Given the description of an element on the screen output the (x, y) to click on. 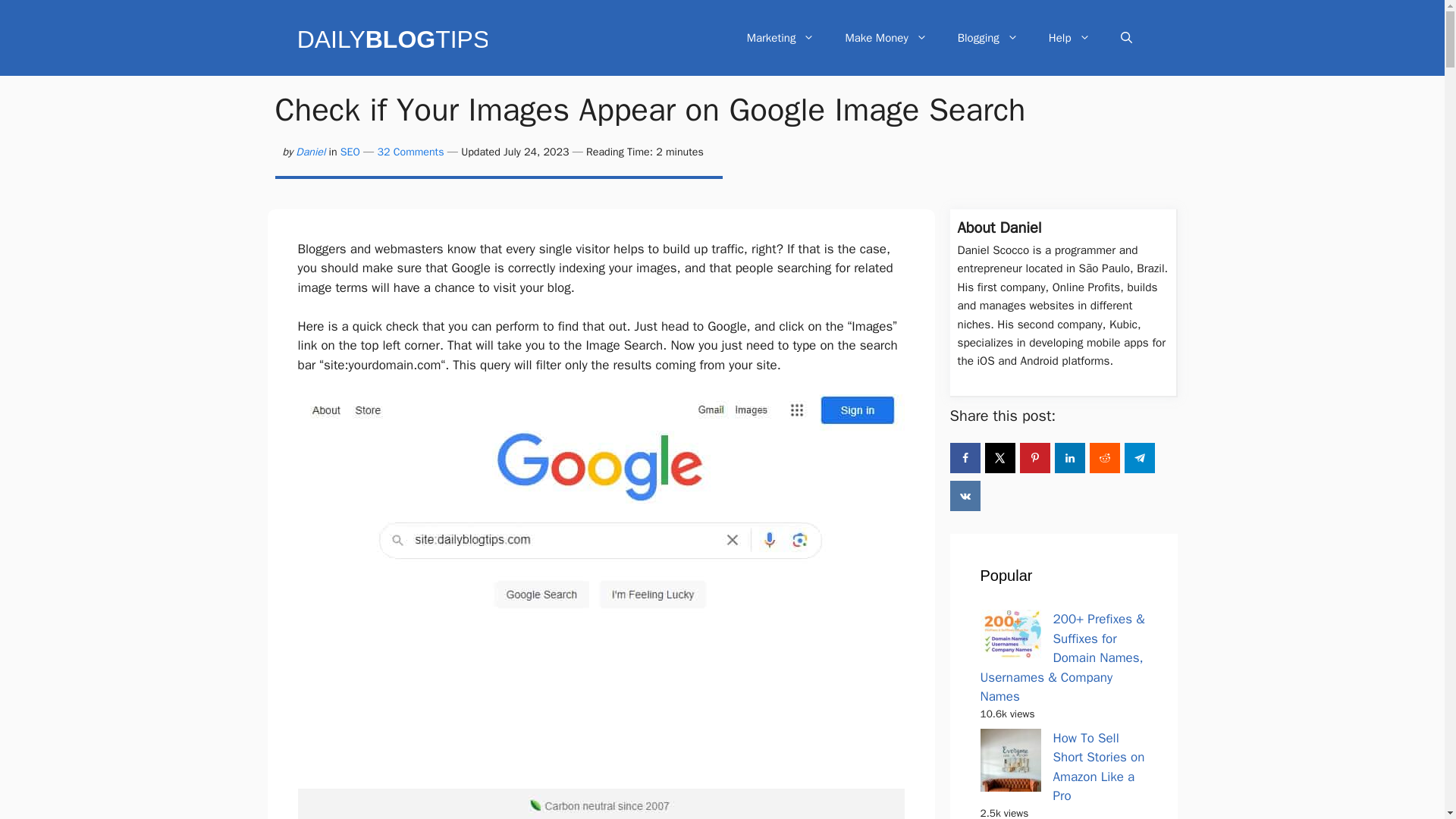
Share on Reddit (1104, 458)
Help (1069, 37)
Share on Facebook (964, 458)
Share on Telegram (1139, 458)
Make Money (885, 37)
32 Comments (410, 151)
Share on VK (964, 495)
Daniel (309, 151)
Share on LinkedIn (1069, 458)
Blogging (987, 37)
Marketing (780, 37)
Share on X (999, 458)
Save to Pinterest (1034, 458)
SEO (349, 151)
